Given the description of an element on the screen output the (x, y) to click on. 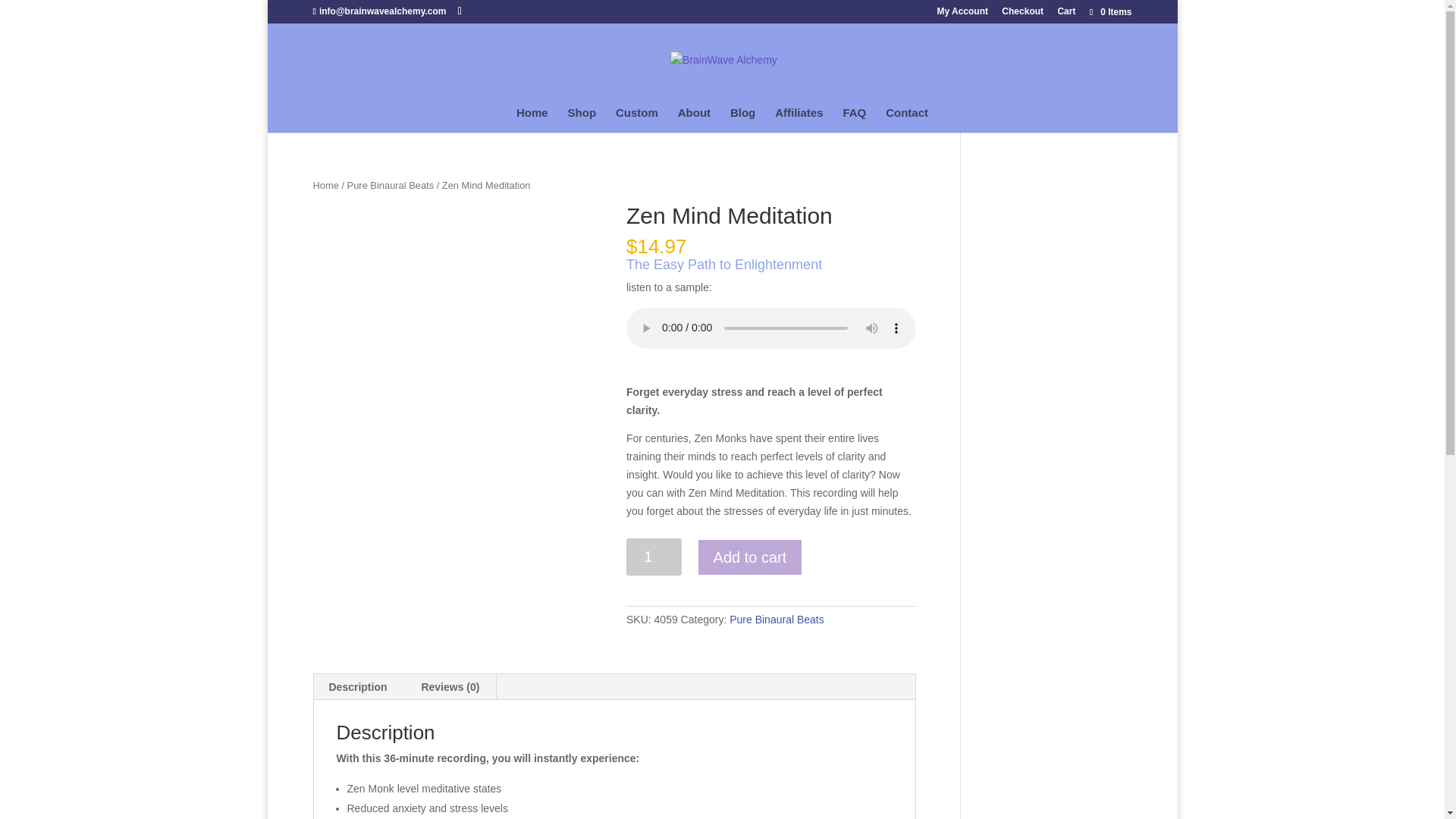
Custom (636, 119)
Pure Binaural Beats (390, 184)
1 (653, 556)
Blog (742, 119)
About (694, 119)
0 Items (1108, 11)
Add to cart (750, 557)
FAQ (854, 119)
Contact (906, 119)
Checkout (1022, 14)
Description (358, 687)
Pure Binaural Beats (776, 619)
Home (532, 119)
Cart (1066, 14)
Home (325, 184)
